Given the description of an element on the screen output the (x, y) to click on. 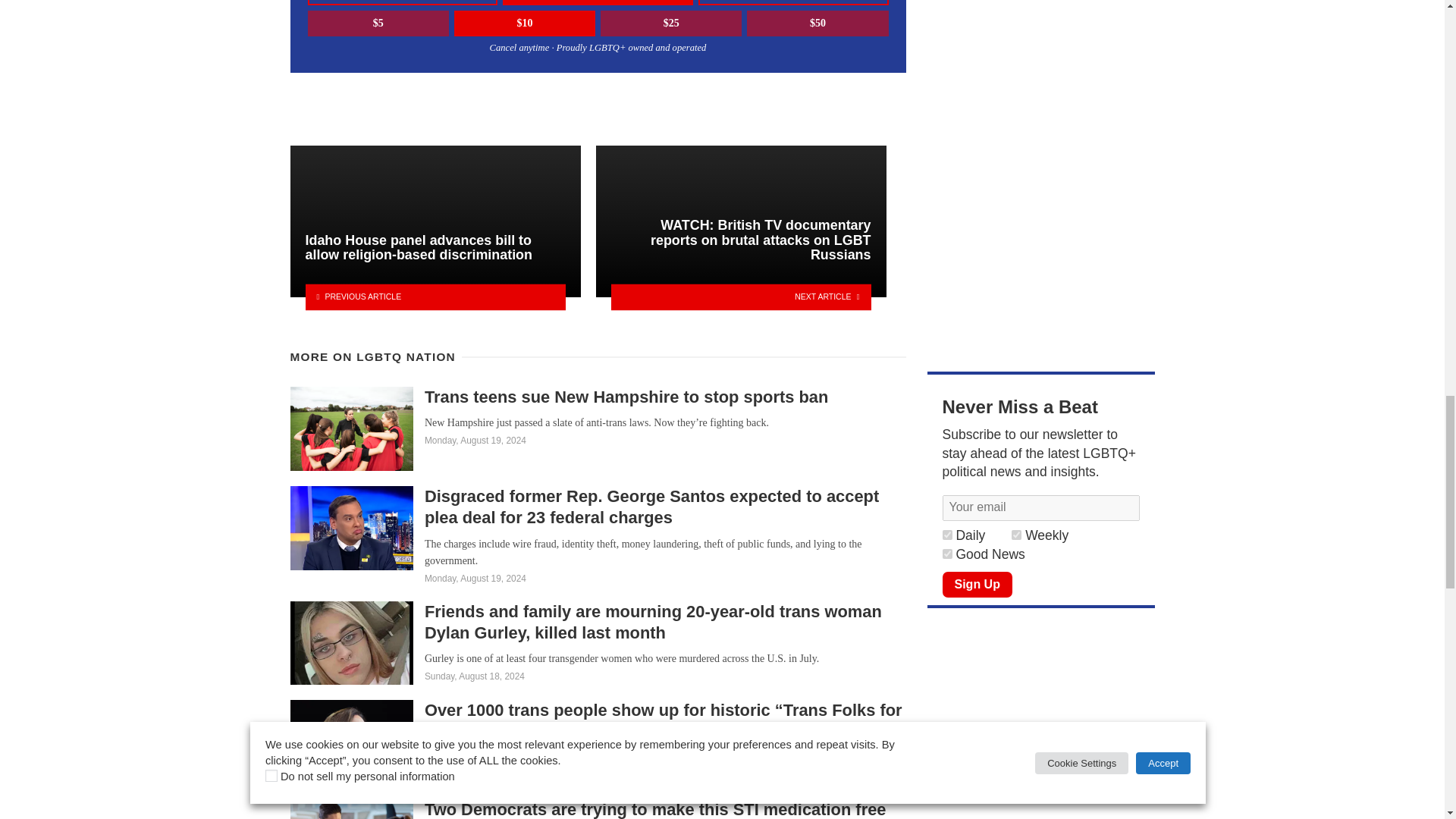
Sign Up (976, 584)
1920883 (947, 553)
1920884 (1016, 534)
1920885 (947, 534)
